Given the description of an element on the screen output the (x, y) to click on. 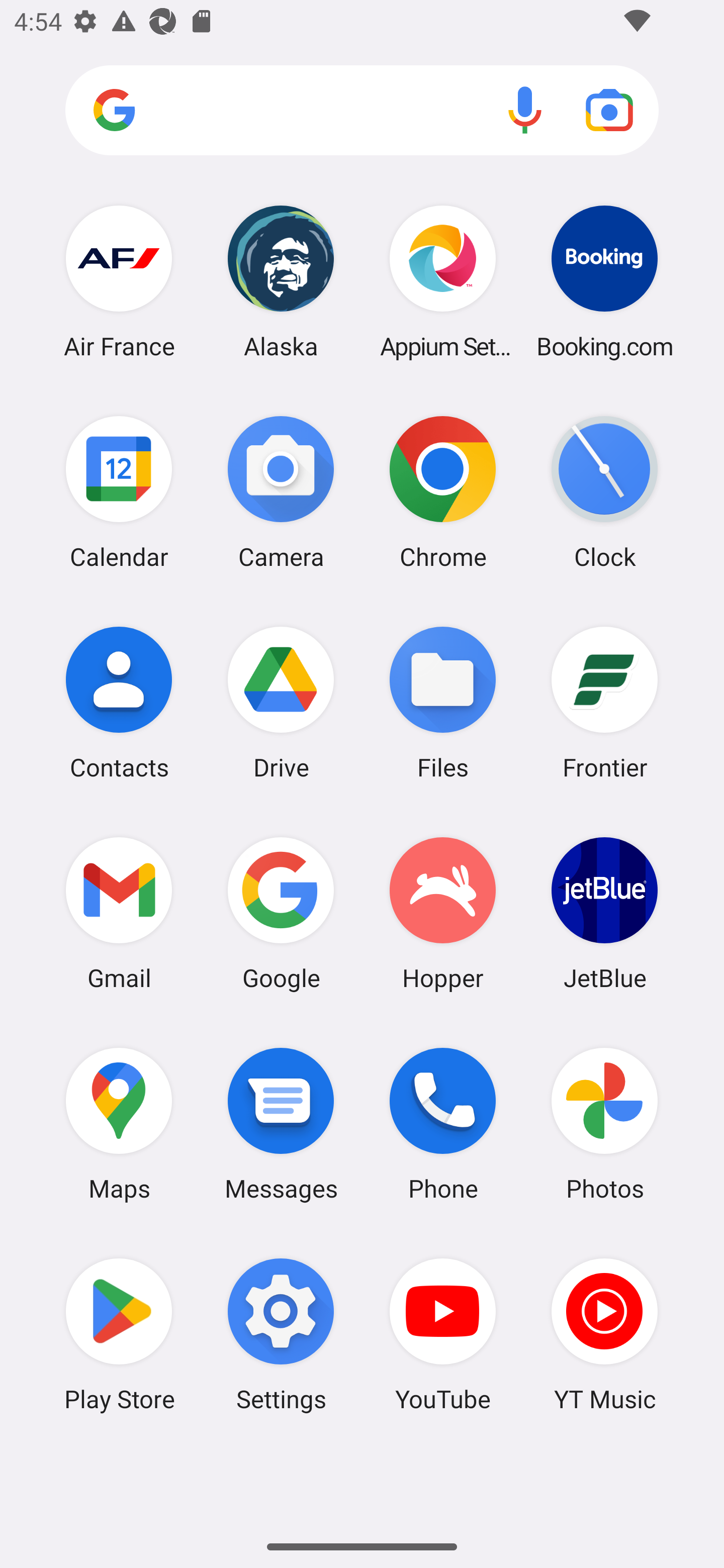
Voice search (524, 109)
Google Lens (608, 109)
Air France (118, 281)
Alaska (280, 281)
Appium Settings (443, 281)
Booking.com (604, 281)
Calendar (118, 492)
Camera (280, 492)
Chrome (443, 492)
Clock (604, 492)
Contacts (118, 702)
Drive (280, 702)
Files (443, 702)
Frontier (604, 702)
Gmail (118, 913)
Google (280, 913)
Hopper (443, 913)
JetBlue (604, 913)
Maps (118, 1124)
Messages (280, 1124)
Phone (443, 1124)
Photos (604, 1124)
Play Store (118, 1334)
Settings (280, 1334)
YouTube (443, 1334)
YT Music (604, 1334)
